Given the description of an element on the screen output the (x, y) to click on. 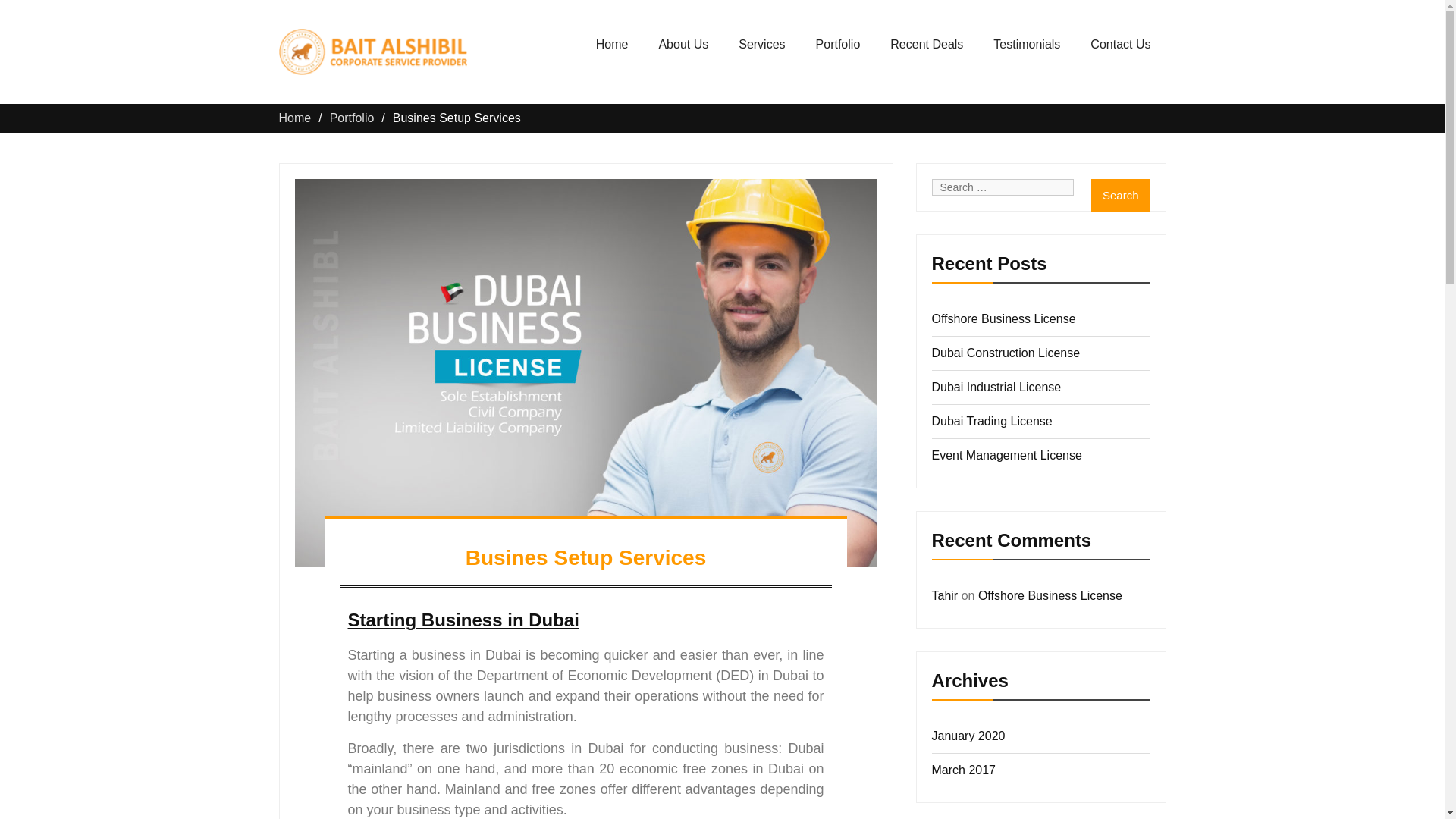
Dubai Trading License (991, 420)
Dubai Construction License (1005, 352)
Home (611, 44)
Contact Us (1120, 44)
Recent Deals (926, 44)
Portfolio (352, 117)
Search (1120, 195)
Event Management License (1006, 454)
Home (295, 117)
Portfolio (838, 44)
